Given the description of an element on the screen output the (x, y) to click on. 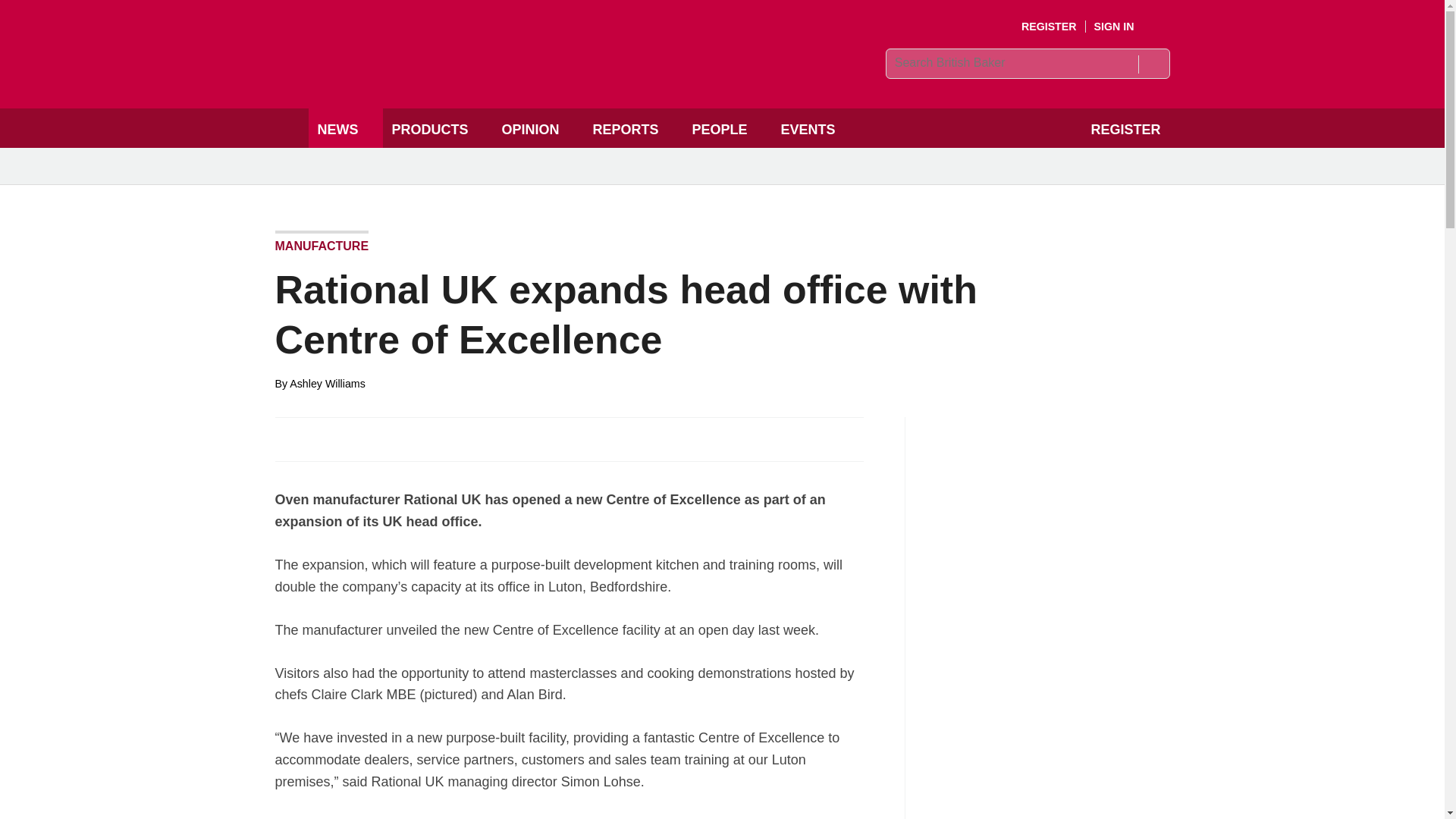
Site name (484, 76)
SEARCH (1153, 63)
Email this article (386, 438)
SIGN IN (1125, 26)
REGISTER (1049, 26)
Share this on Linked in (352, 438)
No comments (840, 447)
Share this on Facebook (288, 438)
Share this on Twitter (320, 438)
